Given the description of an element on the screen output the (x, y) to click on. 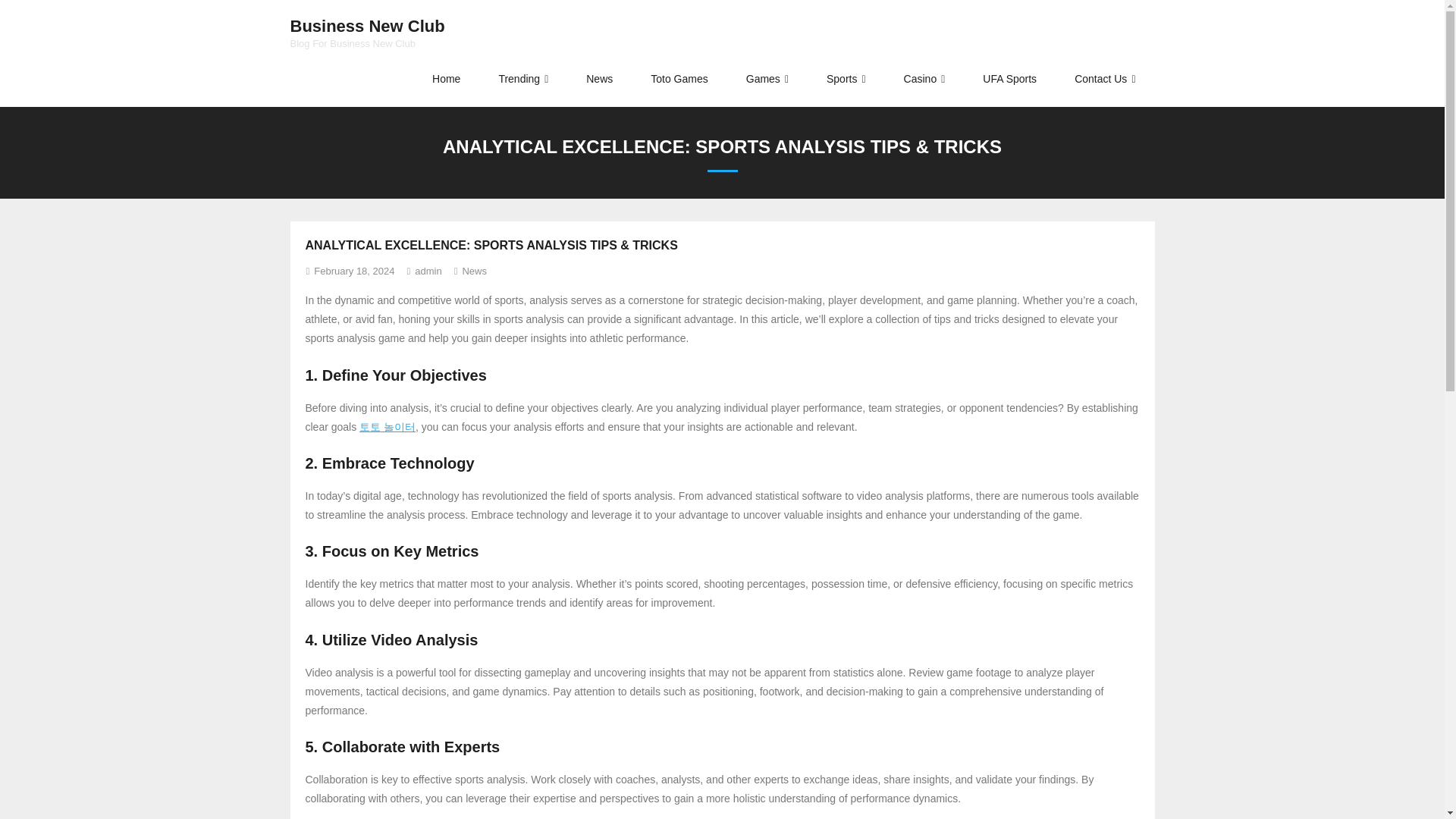
Games (767, 79)
Toto Games (678, 79)
Casino (924, 79)
View all posts by admin (427, 270)
Business New Club (366, 27)
Sports (366, 26)
UFA Sports (846, 79)
Home (1009, 79)
News (446, 79)
Trending (599, 79)
Contact Us (523, 79)
Blog For Business New Club (1104, 79)
